Given the description of an element on the screen output the (x, y) to click on. 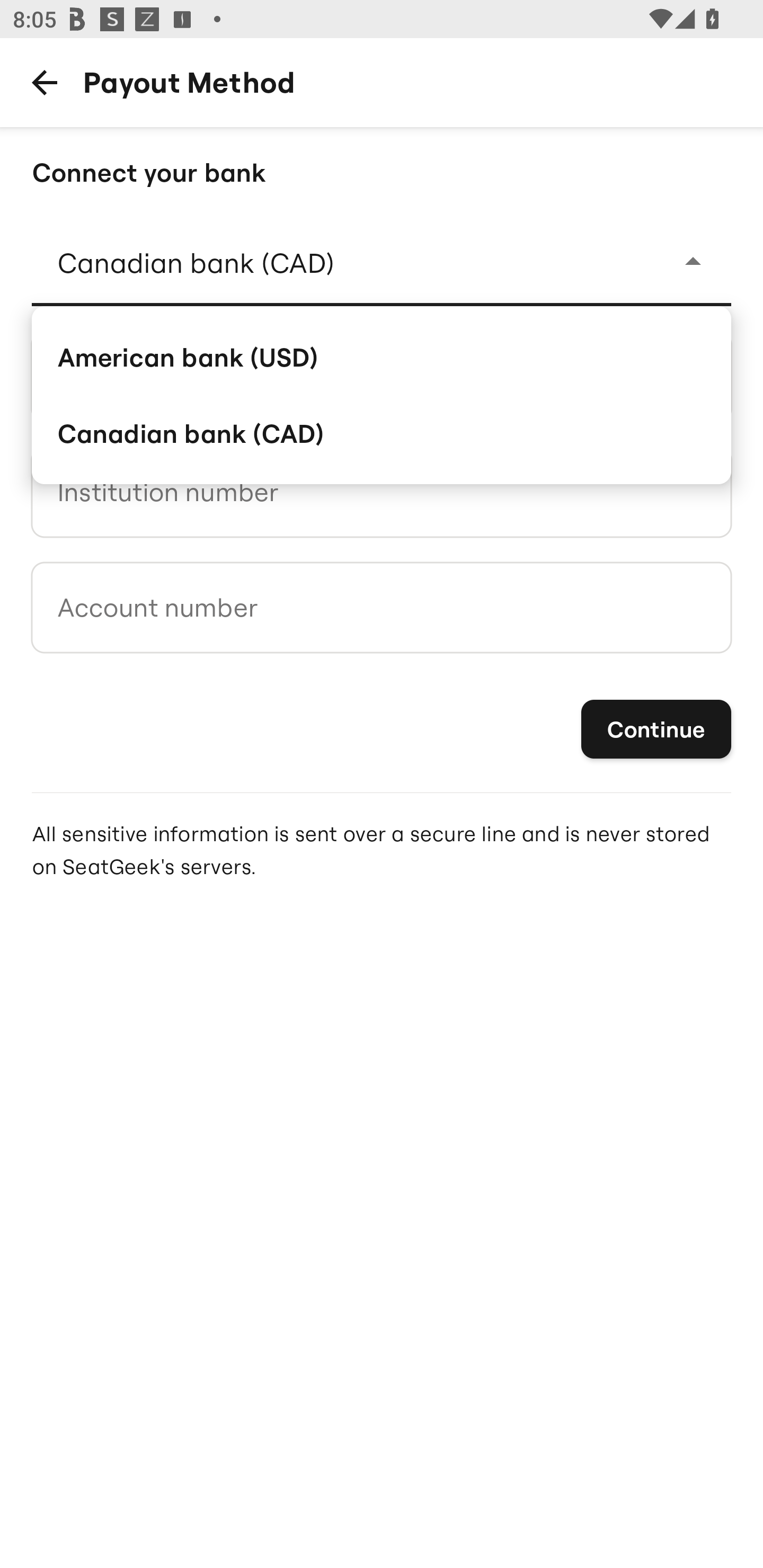
American bank (USD) (381, 356)
Canadian bank (CAD) (381, 433)
